Given the description of an element on the screen output the (x, y) to click on. 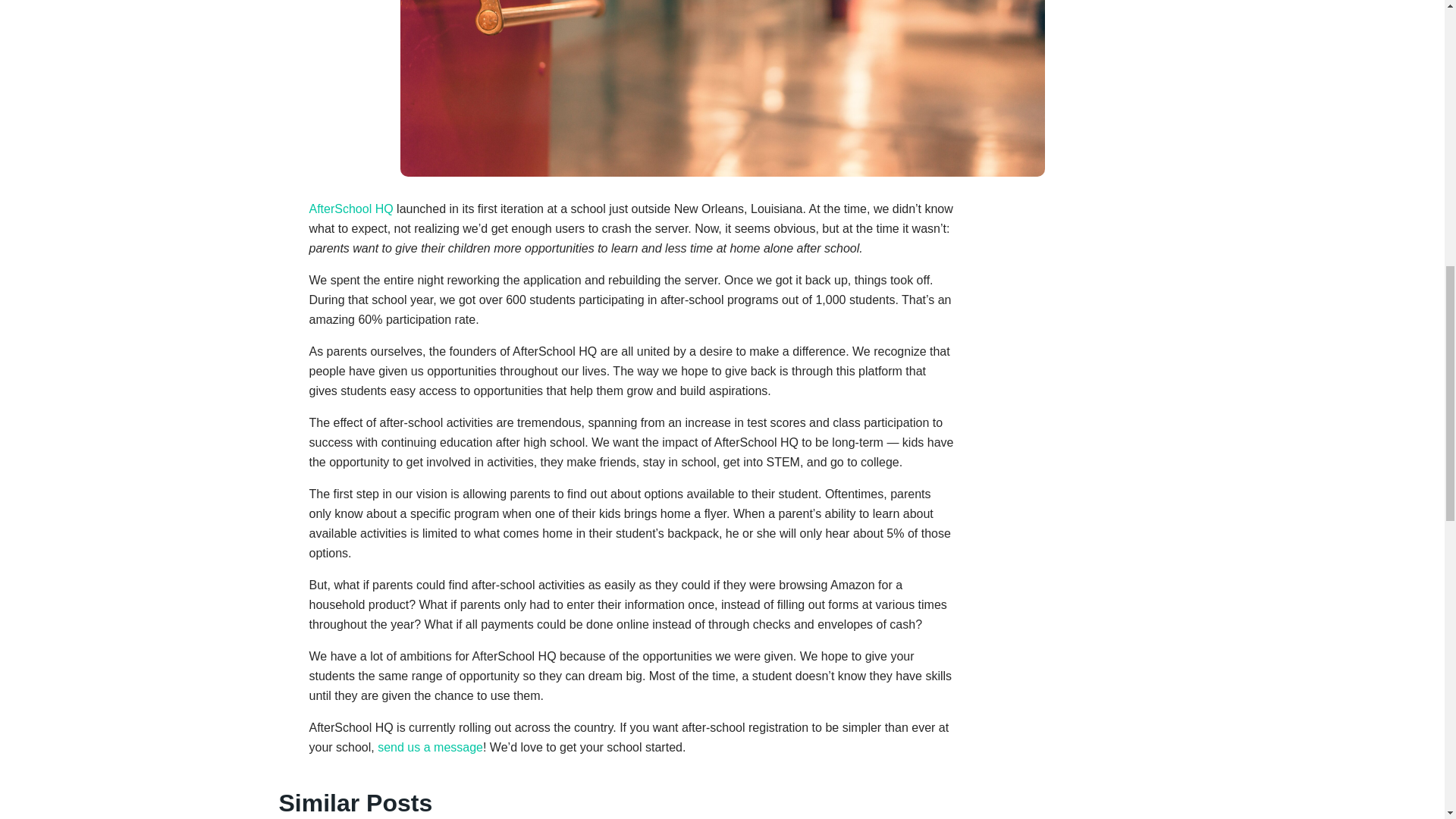
attachment-5ffdbbfe9ecea8262e80a286 (722, 88)
